Given the description of an element on the screen output the (x, y) to click on. 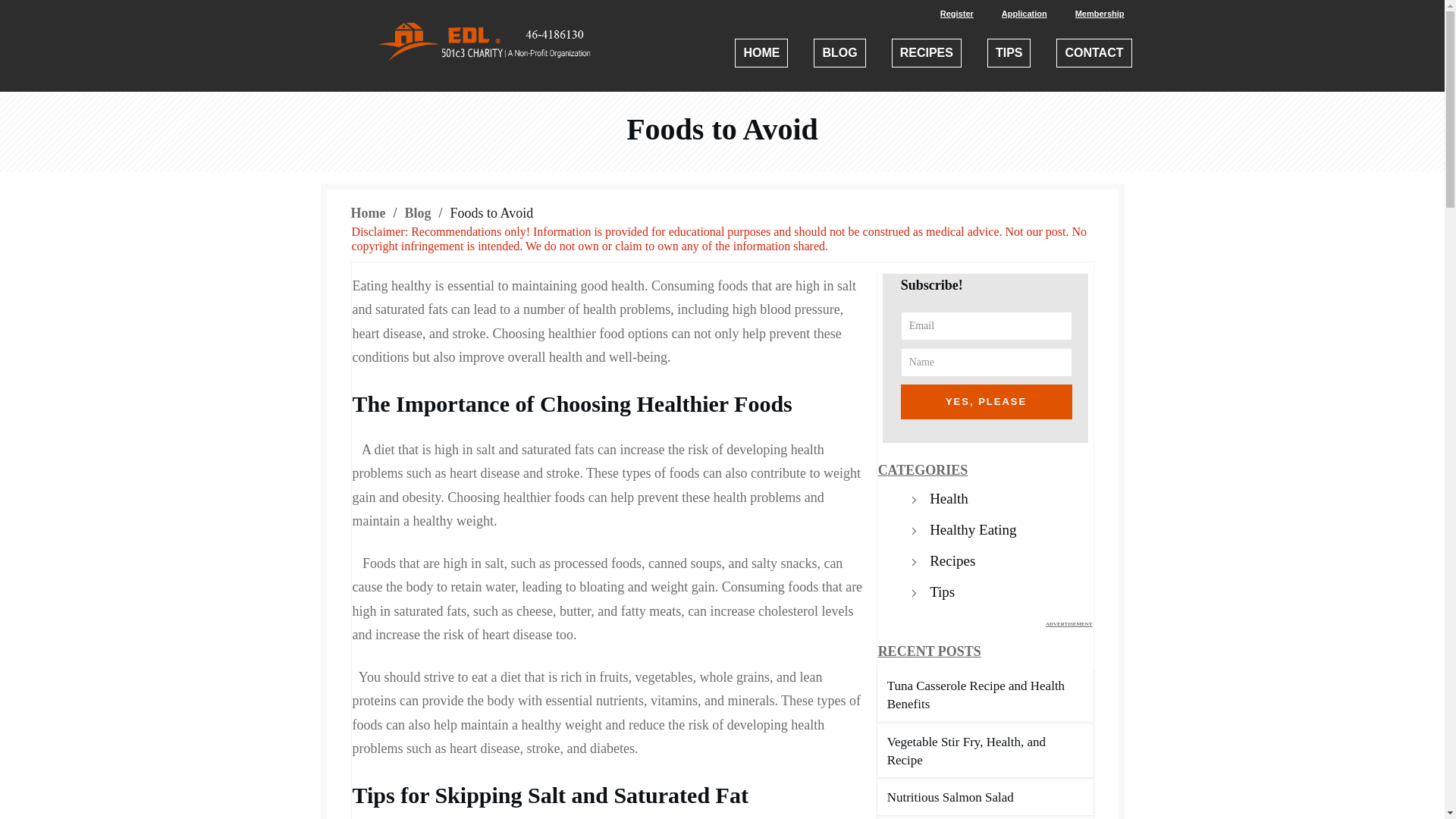
HOME (760, 52)
Health (949, 498)
Application (1023, 13)
YES, PLEASE (986, 401)
Tuna Casserole Recipe and Health Benefits (975, 694)
Vegetable Stir Fry, Health, and Recipe (965, 750)
Blog (417, 212)
BLOG (839, 52)
Nutritious Salmon Salad (949, 797)
Register (957, 13)
Vegetable Stir Fry, Health, and Recipe (965, 750)
Tuna Casserole Recipe and Health Benefits (975, 694)
Recipes (952, 561)
Foods to Avoid (722, 129)
Tips (942, 592)
